Given the description of an element on the screen output the (x, y) to click on. 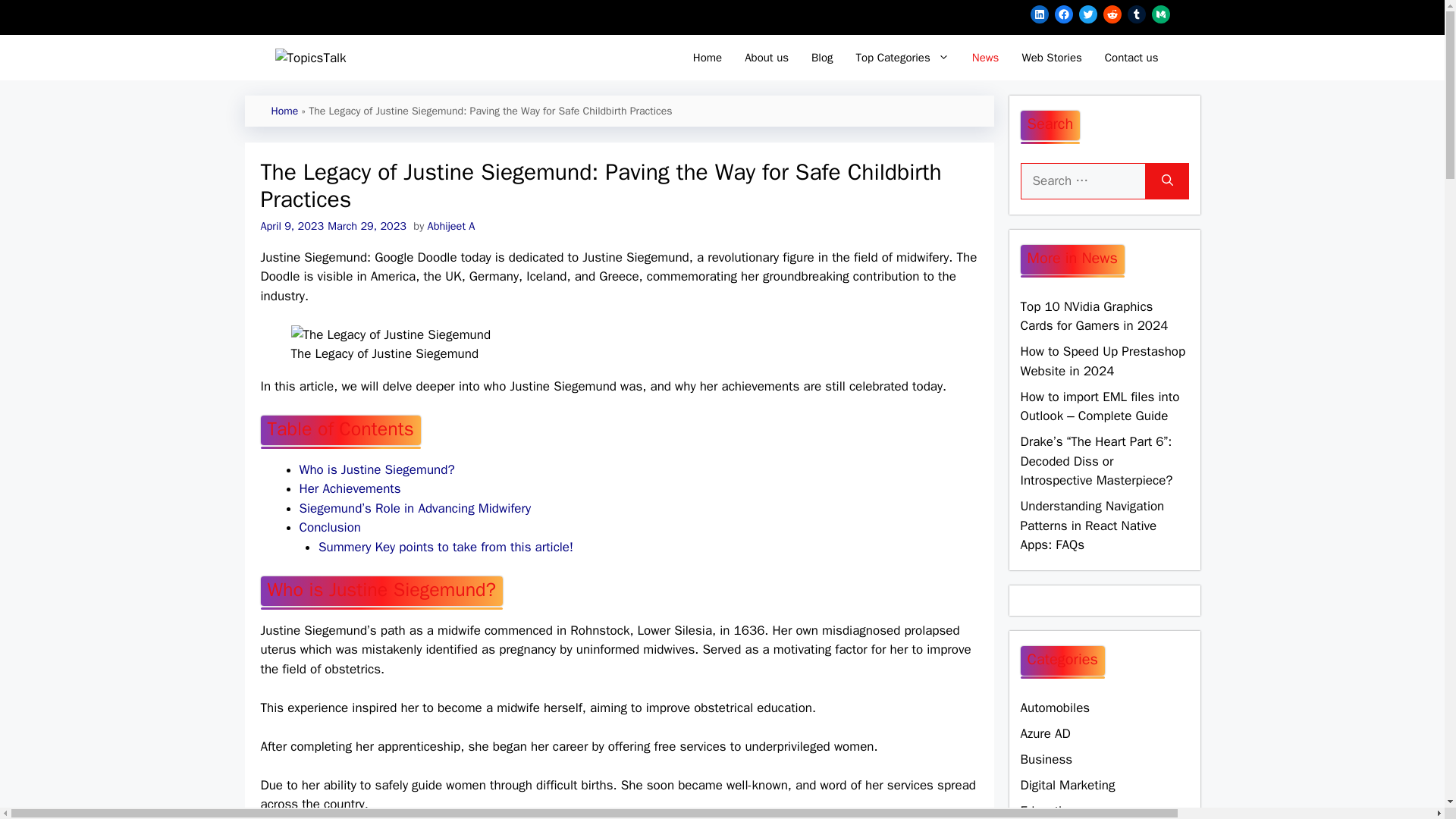
Web Stories (1051, 57)
Home (707, 57)
Blog (821, 57)
News (985, 57)
Home (284, 110)
Who is Justine Siegemund? (376, 469)
Search for: (1082, 180)
Contact us (1131, 57)
Abhijeet A (452, 225)
Conclusion (328, 527)
About us (766, 57)
Top Categories (901, 57)
Summery Key points to take from this article! (445, 546)
Tumblr (1135, 13)
Facebook (1062, 13)
